Given the description of an element on the screen output the (x, y) to click on. 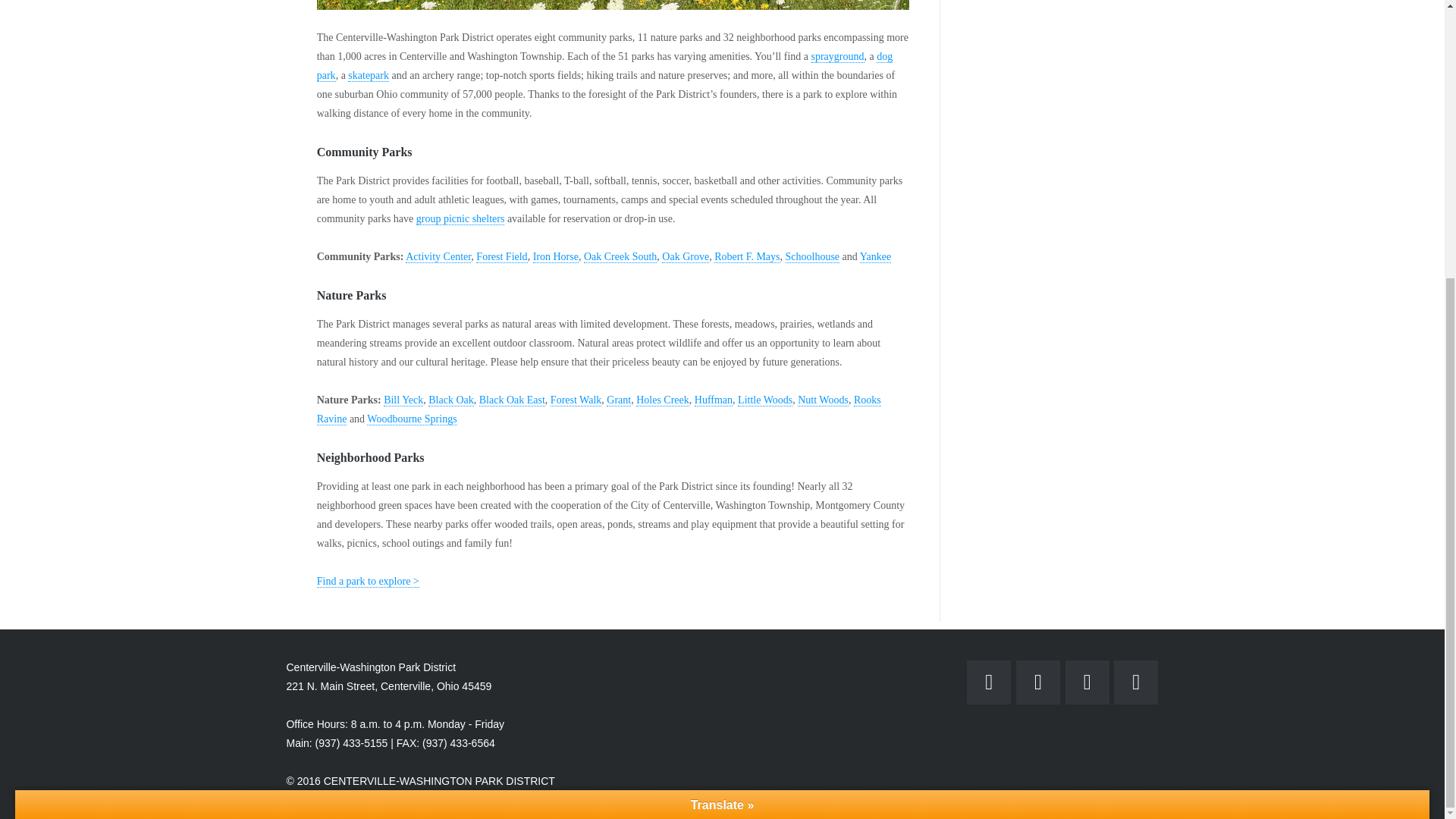
LinkedIn (1087, 682)
Centerville-Washington Park District on Facebook (988, 682)
Centerville-Washington Park District on Instagram (1037, 682)
Centerville-Washington Park District on X Twitter (1135, 682)
